Given the description of an element on the screen output the (x, y) to click on. 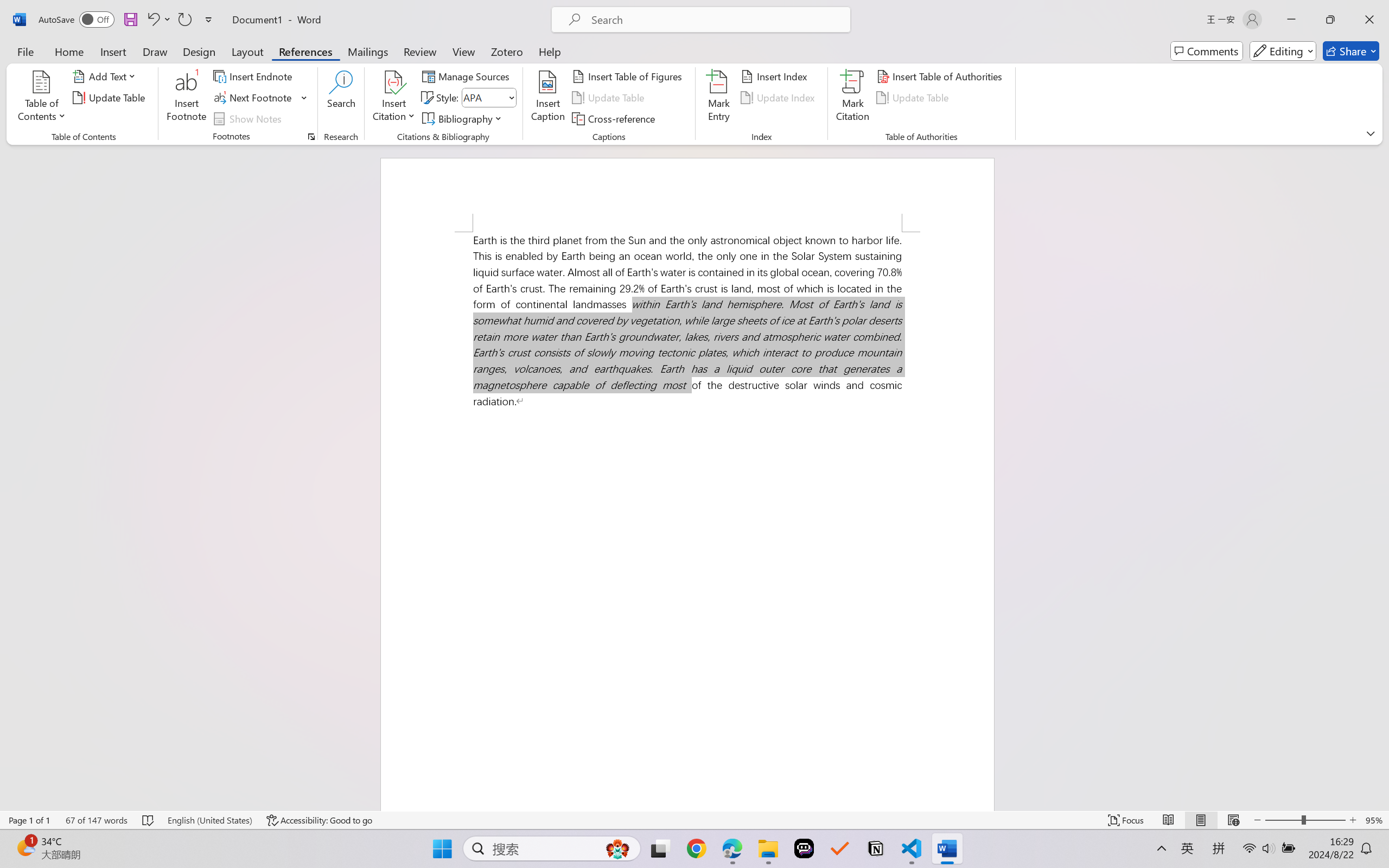
Footnote and Endnote Dialog... (311, 136)
Update Table (914, 97)
Manage Sources... (467, 75)
Add Text (106, 75)
